Given the description of an element on the screen output the (x, y) to click on. 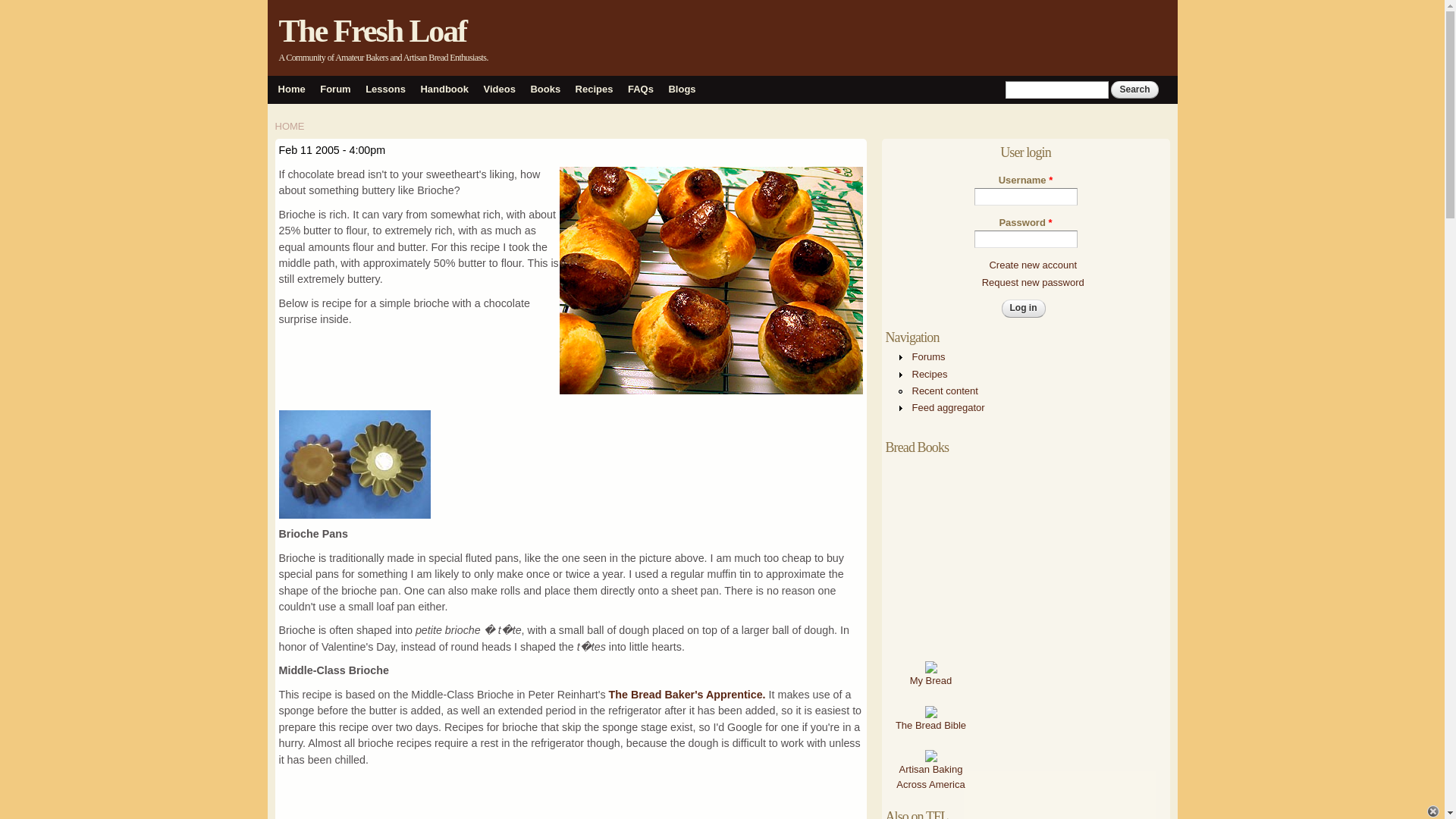
Recipes (593, 89)
Create new account (1032, 265)
Log in (1023, 307)
Skip to main content (693, 1)
Enter the terms you wish to search for. (1057, 89)
Home (291, 89)
The Fresh Loaf (373, 30)
Advertisement (571, 797)
Search (1133, 89)
Books (544, 89)
The Bread Baker's Apprentice. (686, 694)
FAQs (640, 89)
HOME (289, 125)
Handbook (444, 89)
This field is required. (1050, 179)
